Given the description of an element on the screen output the (x, y) to click on. 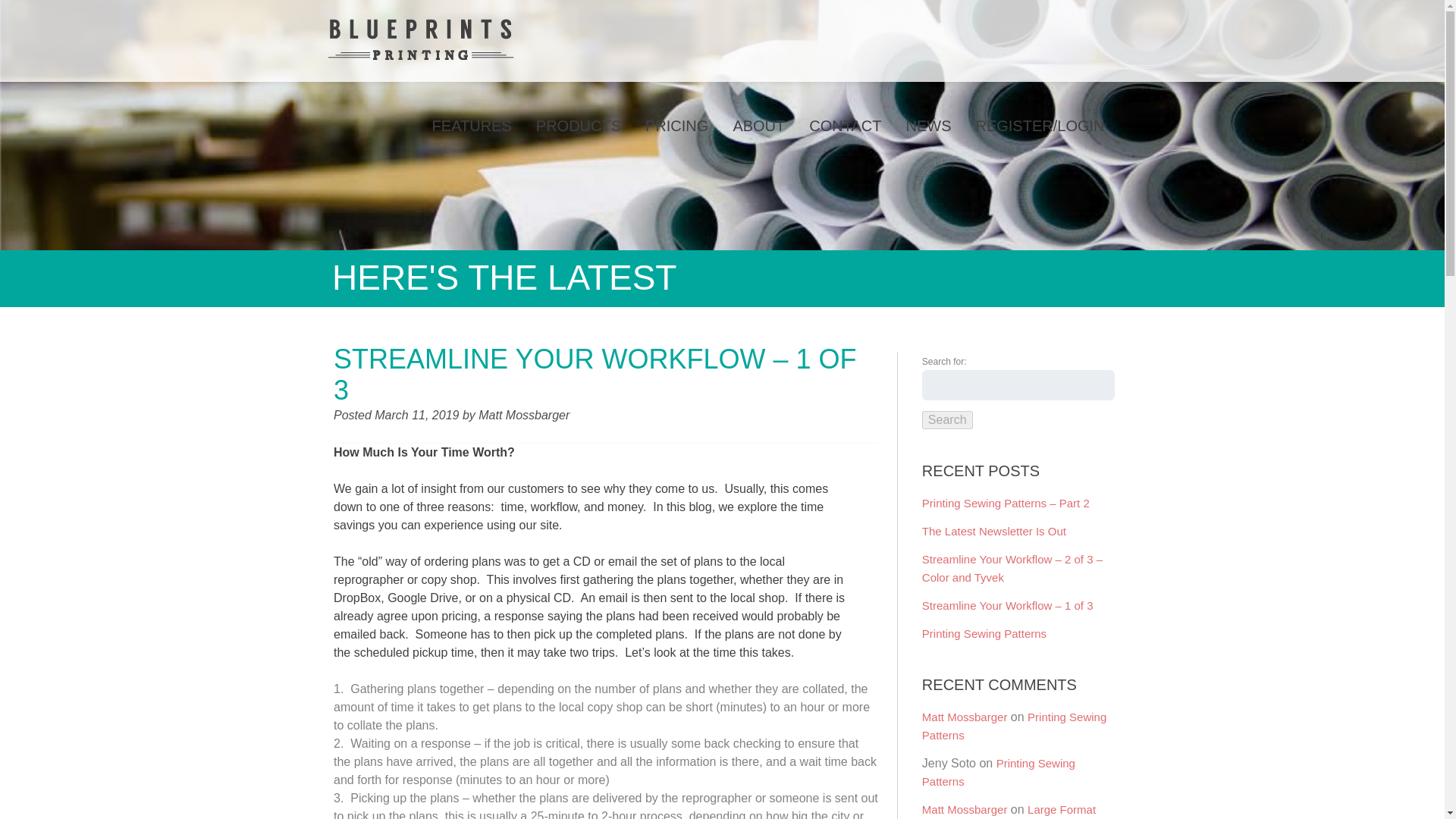
Matt Mossbarger (964, 716)
Printing Sewing Patterns (983, 633)
PRODUCTS (578, 125)
Matt Mossbarger (964, 809)
Large Format Document Solutions (1008, 811)
Search (946, 420)
Printing Sewing Patterns (1013, 726)
The Latest Newsletter Is Out (993, 530)
PRICING (676, 125)
Printing Sewing Patterns (998, 771)
Matt Mossbarger (524, 414)
Search (946, 420)
FEATURES (472, 125)
CONTACT (844, 125)
ABOUT (758, 125)
